Given the description of an element on the screen output the (x, y) to click on. 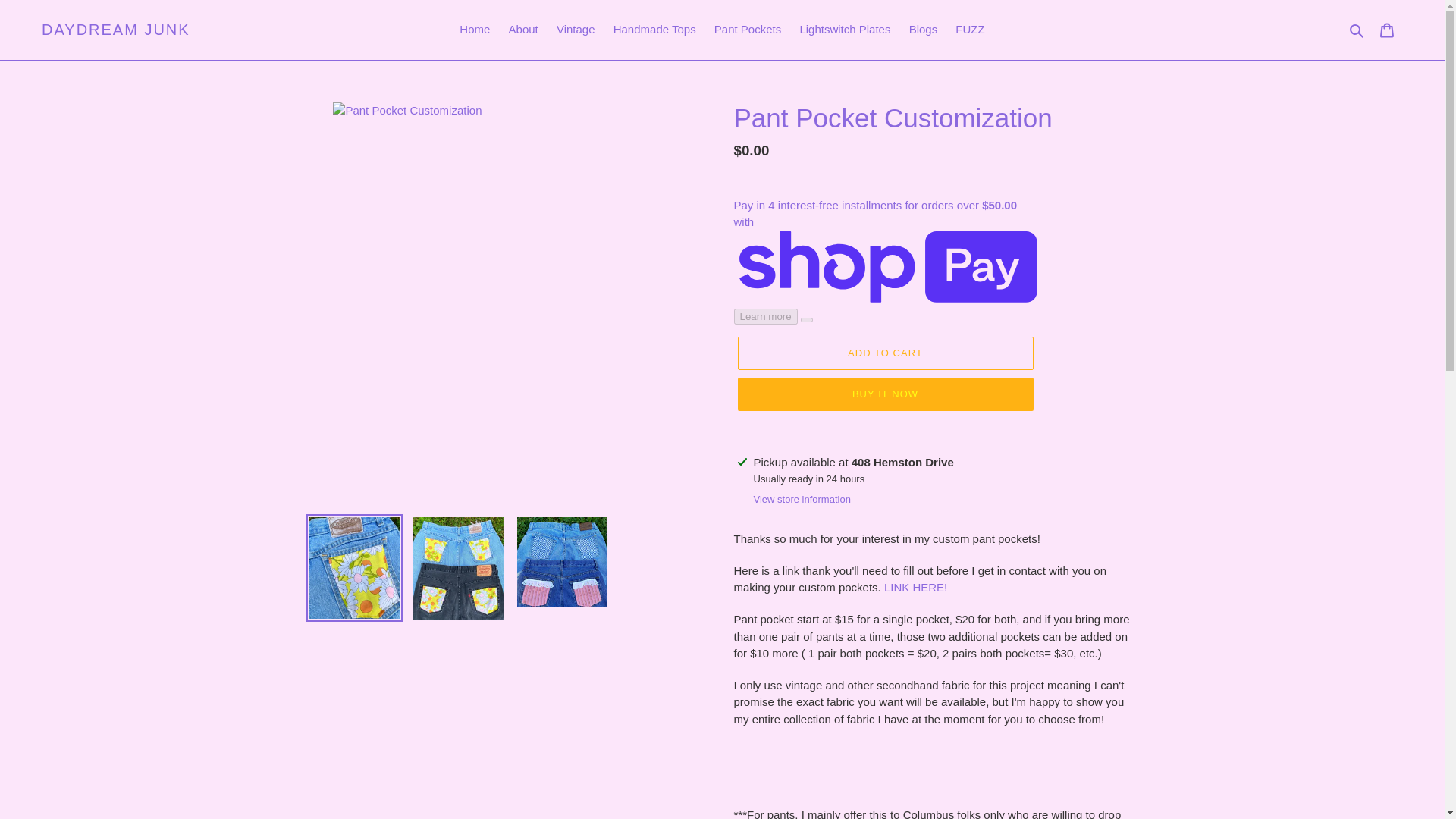
Pant Pockets (747, 29)
LINK HERE! (915, 587)
Handmade Tops (654, 29)
ADD TO CART (884, 353)
Lightswitch Plates (845, 29)
Cart (1387, 29)
About (523, 29)
FUZZ (969, 29)
Blogs (922, 29)
Search (1357, 29)
View store information (802, 499)
Home (474, 29)
DAYDREAM JUNK (116, 29)
Vintage (575, 29)
BUY IT NOW (884, 394)
